Given the description of an element on the screen output the (x, y) to click on. 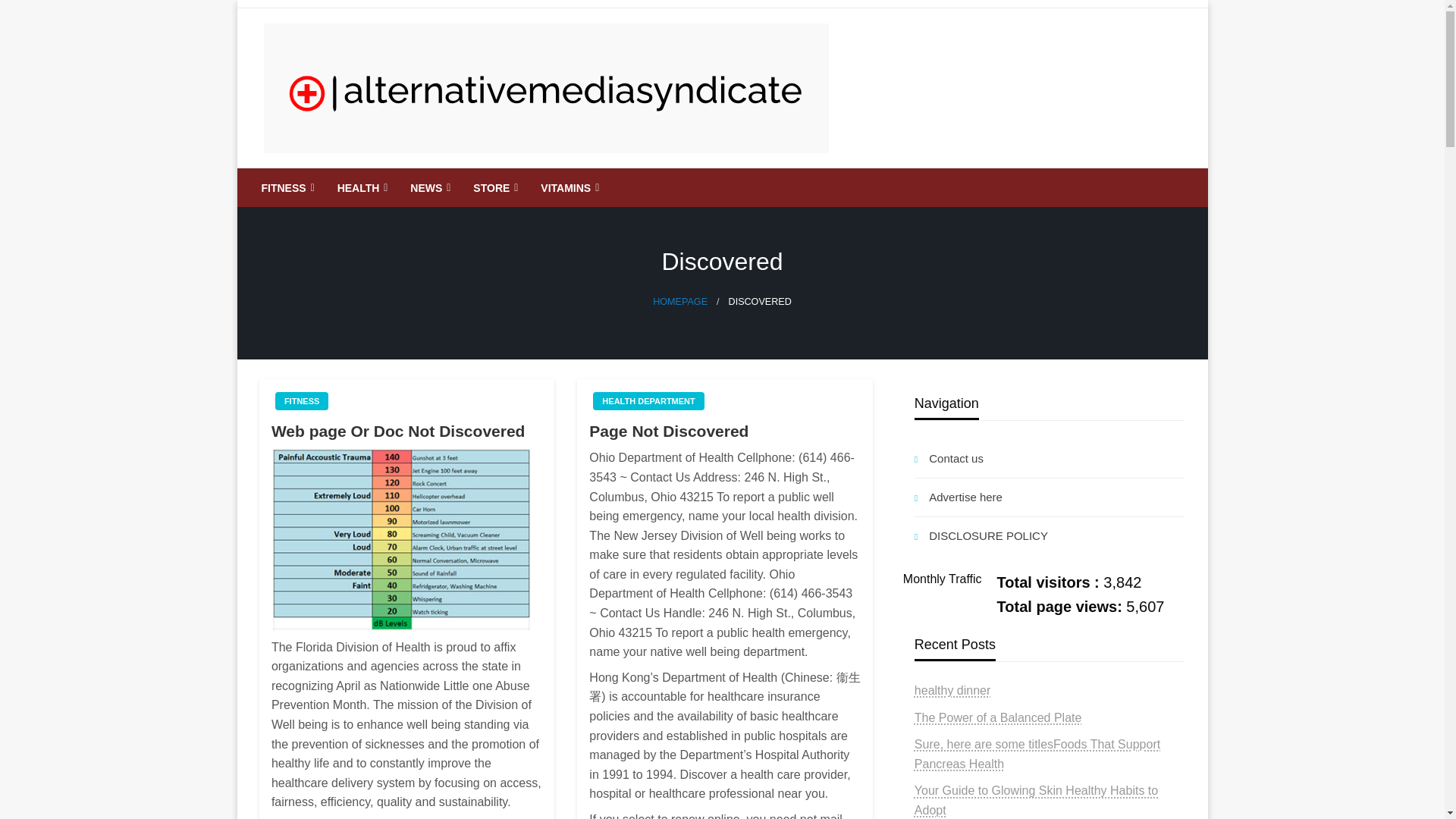
Homepage (679, 301)
NEWS (428, 187)
STORE (493, 187)
FITNESS (286, 187)
HEALTH DEPARTMENT (647, 401)
Page Not Discovered (724, 431)
Web page Or Doc Not Discovered (405, 431)
VITAMINS (567, 187)
HEALTH (360, 187)
AlternativeM (347, 180)
FITNESS (302, 401)
HOMEPAGE (679, 301)
